Given the description of an element on the screen output the (x, y) to click on. 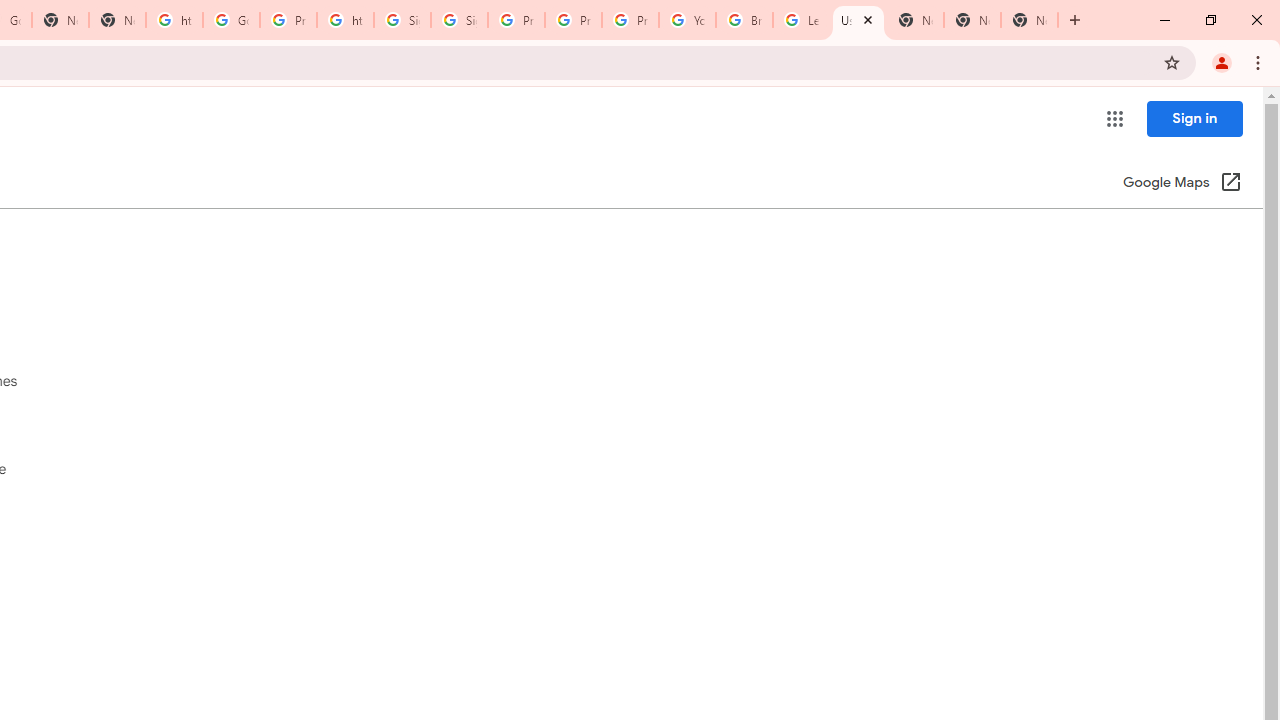
Browse Chrome as a guest - Computer - Google Chrome Help (744, 20)
Sign in - Google Accounts (402, 20)
New Tab (1029, 20)
https://scholar.google.com/ (174, 20)
Sign in - Google Accounts (459, 20)
Sign in (1194, 118)
https://scholar.google.com/ (345, 20)
